Given the description of an element on the screen output the (x, y) to click on. 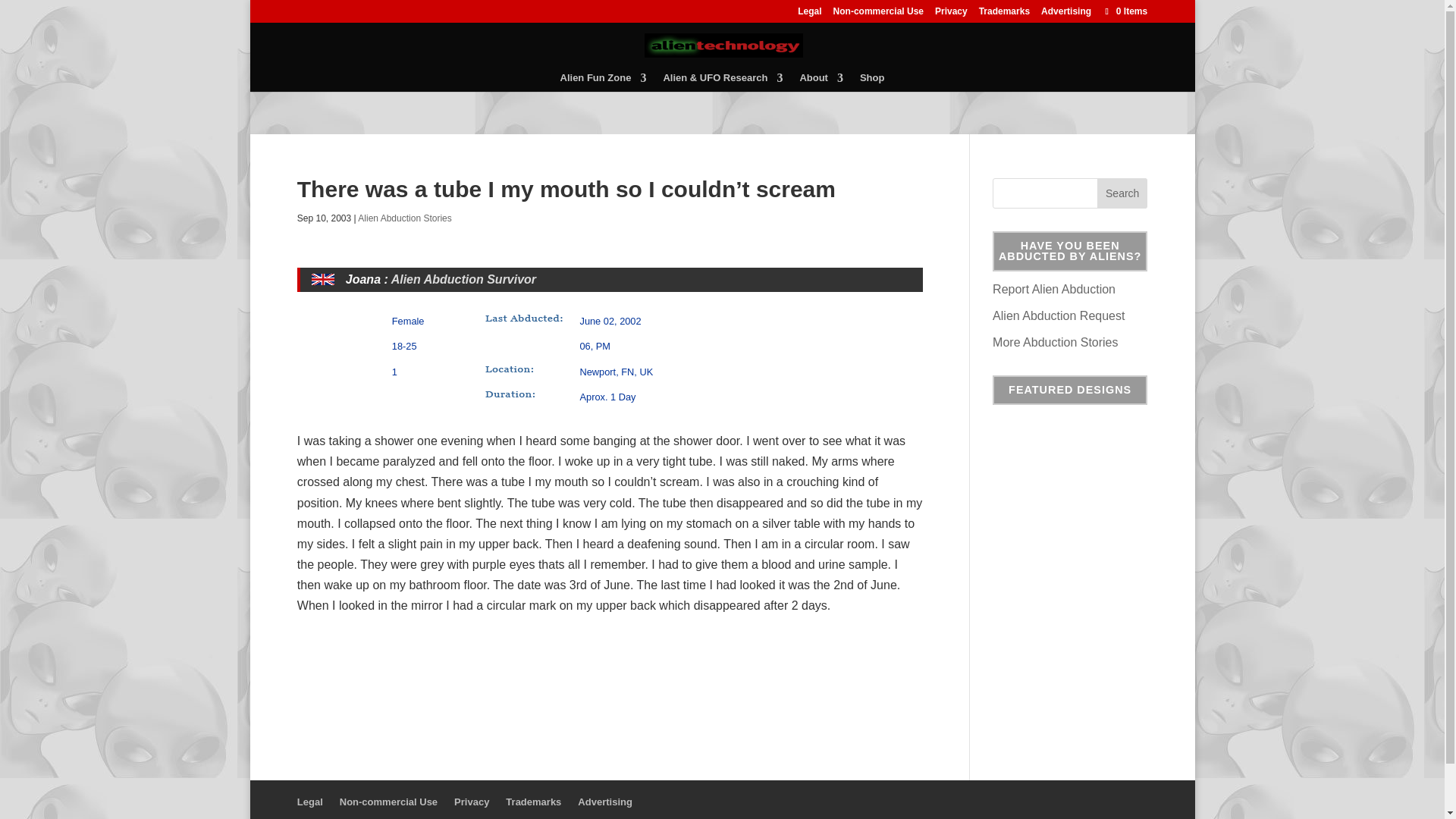
Alien Abduction Request (1058, 315)
0 Items (1124, 10)
Shop (872, 81)
Report Alien Abduction (1053, 288)
About (821, 81)
Search (1122, 193)
Non-commercial Use (388, 801)
Alien Fun Zone (603, 81)
Legal (310, 801)
More Abduction Stories (1055, 341)
Privacy (951, 14)
Advertising (1065, 14)
Trademarks (1003, 14)
Non-commercial Use (877, 14)
Legal (809, 14)
